Given the description of an element on the screen output the (x, y) to click on. 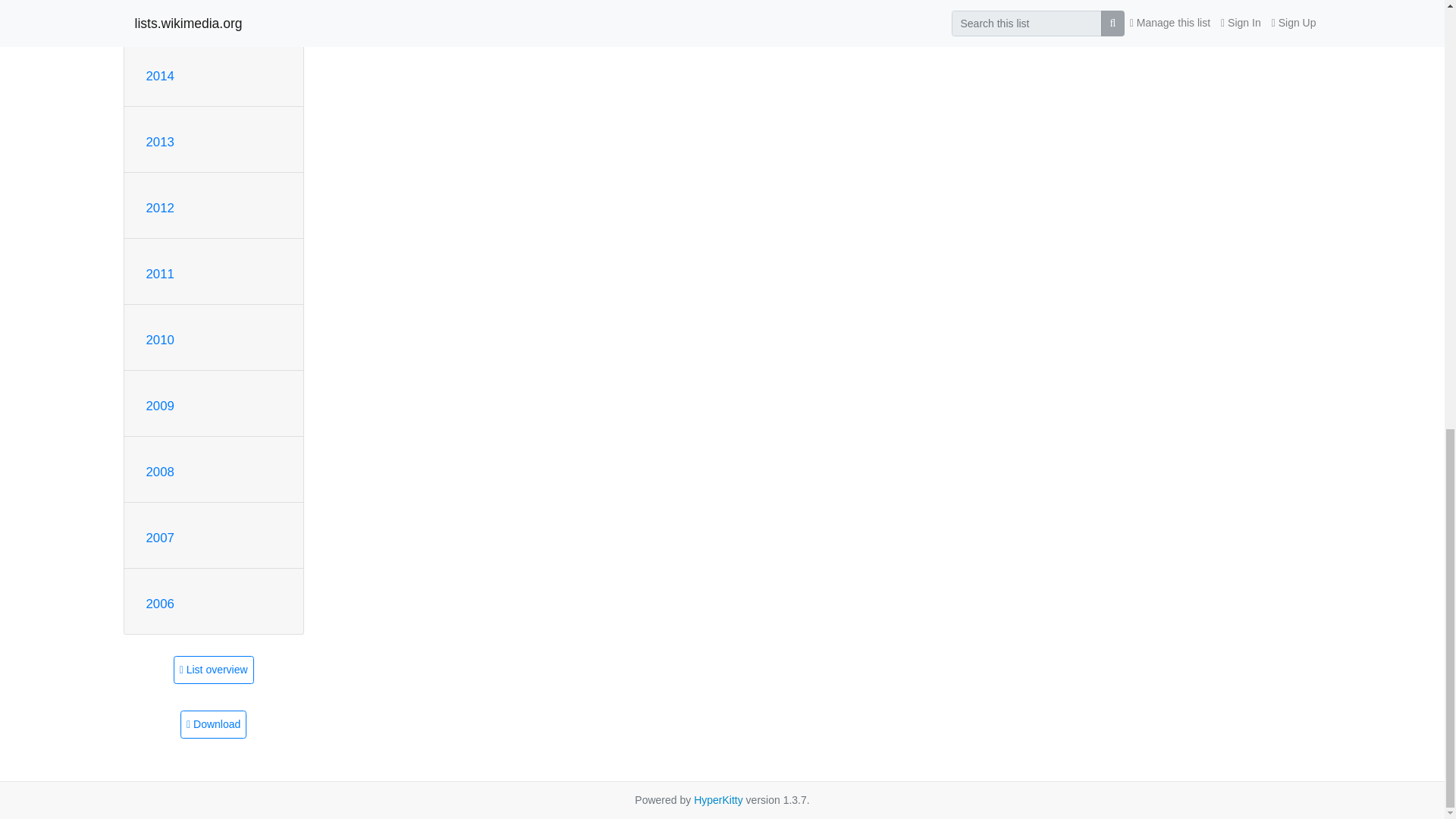
This message in gzipped mbox format (213, 724)
